Given the description of an element on the screen output the (x, y) to click on. 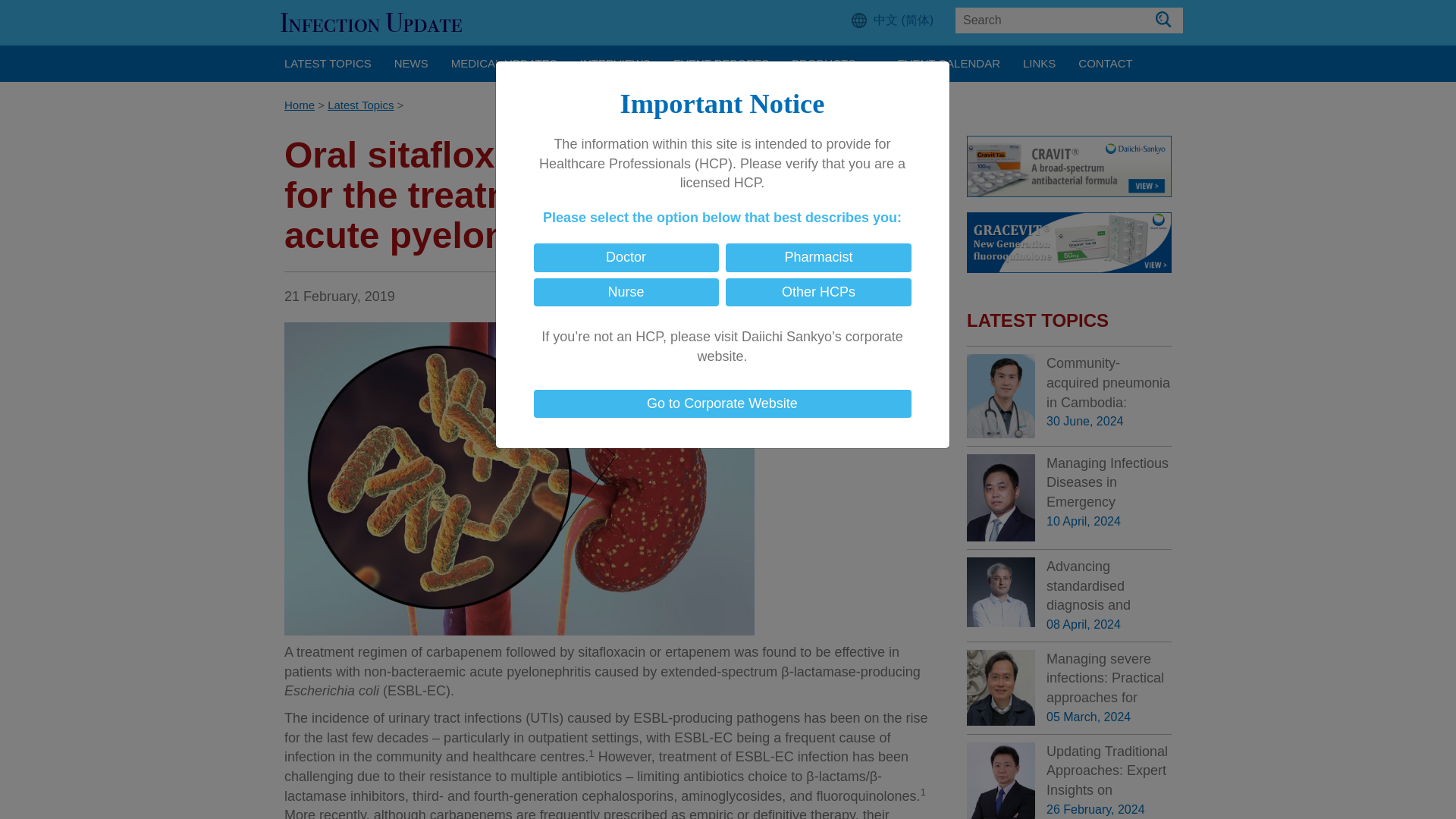
EVENT CALENDAR (948, 63)
Latest Topics (360, 104)
LINKS (1039, 63)
CONTACT (1104, 63)
INTERVIEWS (615, 63)
Home (298, 104)
PRODUCTS  (832, 63)
EVENT REPORTS (721, 63)
MEDICAL UPDATES (504, 63)
LATEST TOPICS (327, 63)
NEWS (410, 63)
